Given the description of an element on the screen output the (x, y) to click on. 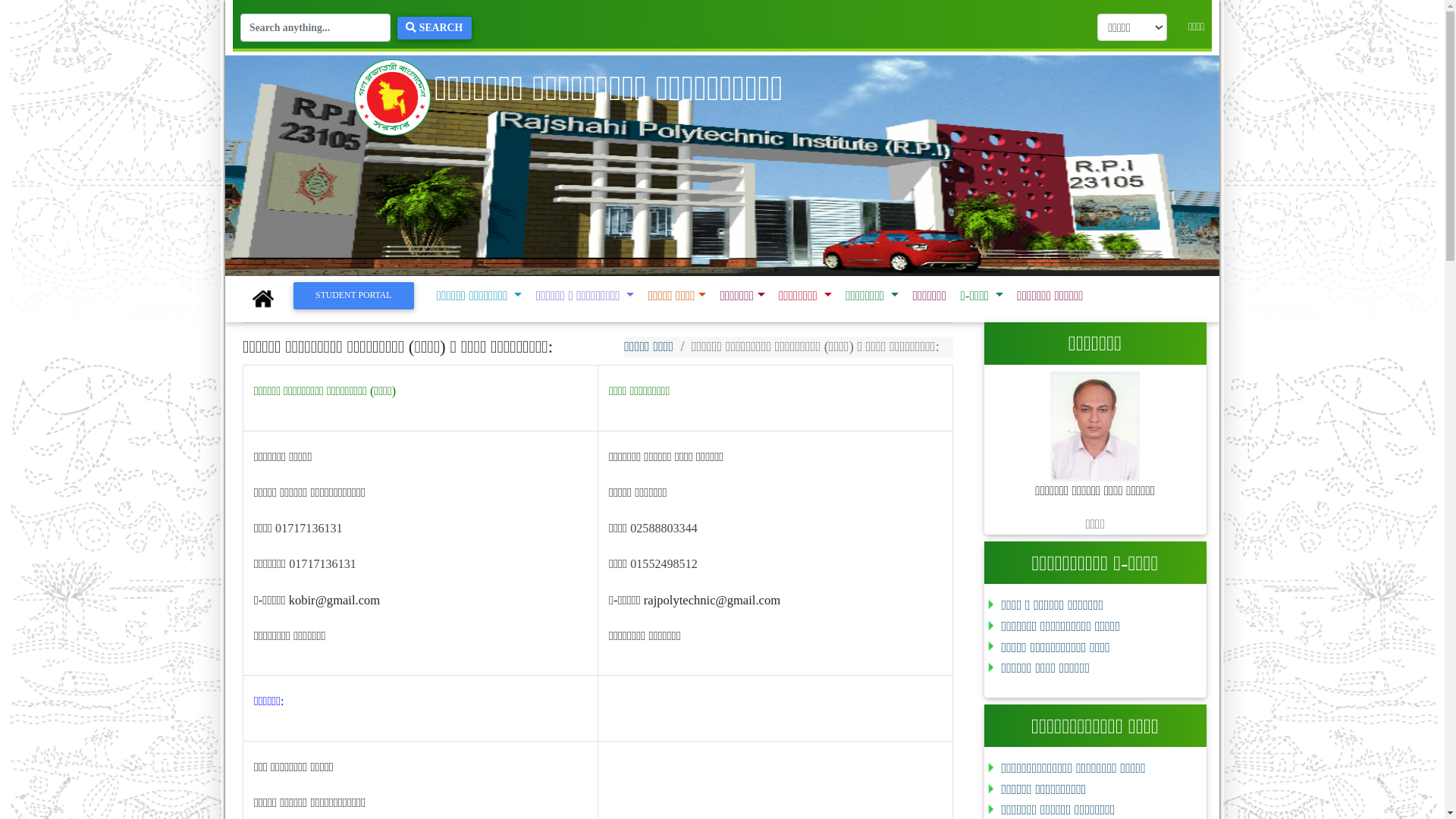
STUDENT PORTAL Element type: text (307, 256)
SEARCH Element type: text (378, 24)
STUDENT PORTAL Element type: text (307, 256)
Previous Element type: text (260, 149)
Next Element type: text (995, 149)
